Given the description of an element on the screen output the (x, y) to click on. 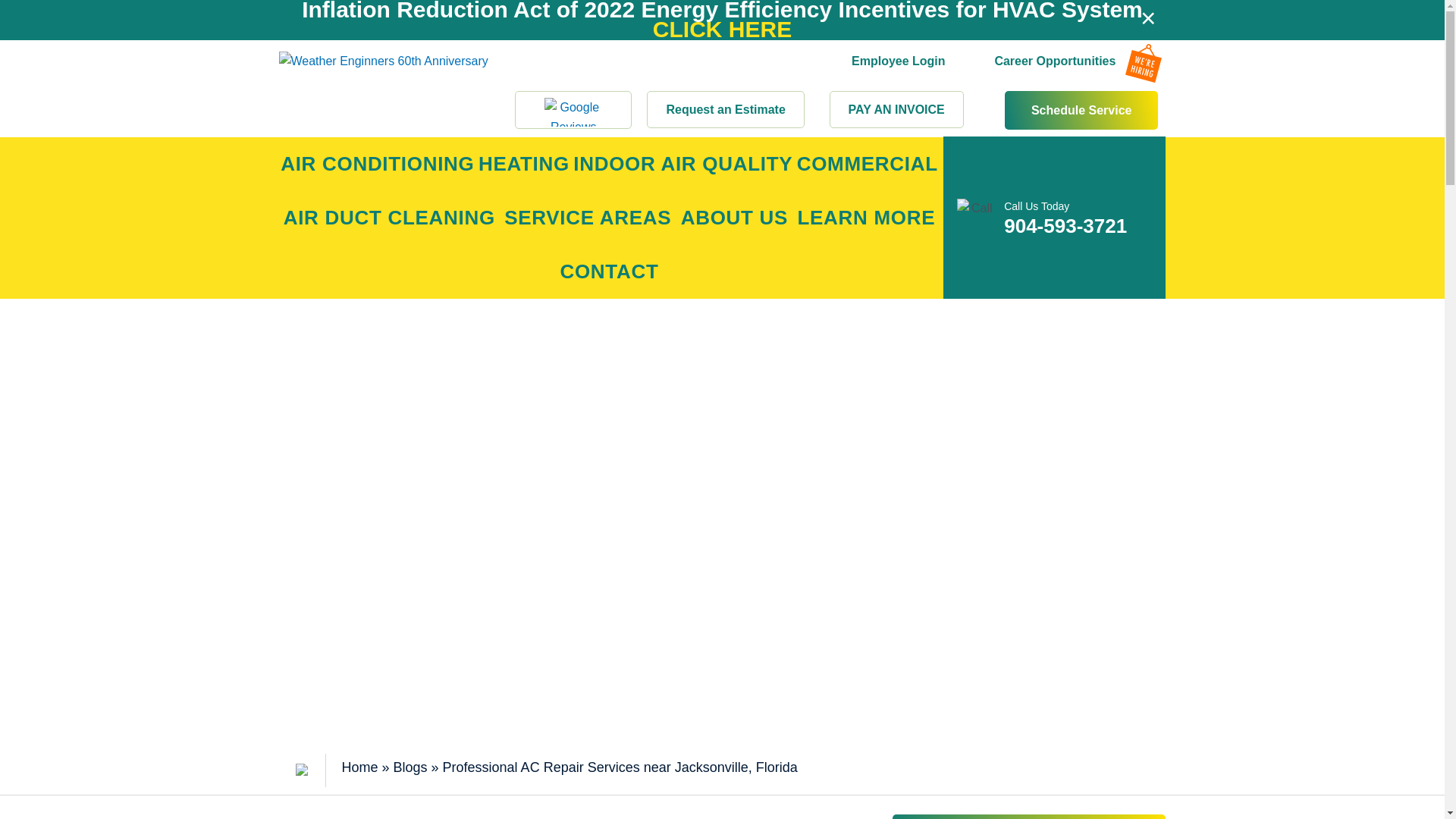
CLICK HERE (722, 28)
Schedule Service (1081, 109)
INDOOR AIR QUALITY (683, 163)
HEATING (523, 163)
Employee Login (897, 38)
Career Opportunities (1054, 41)
AIR CONDITIONING (378, 163)
PAY AN INVOICE (896, 108)
Request an Estimate (724, 108)
